Given the description of an element on the screen output the (x, y) to click on. 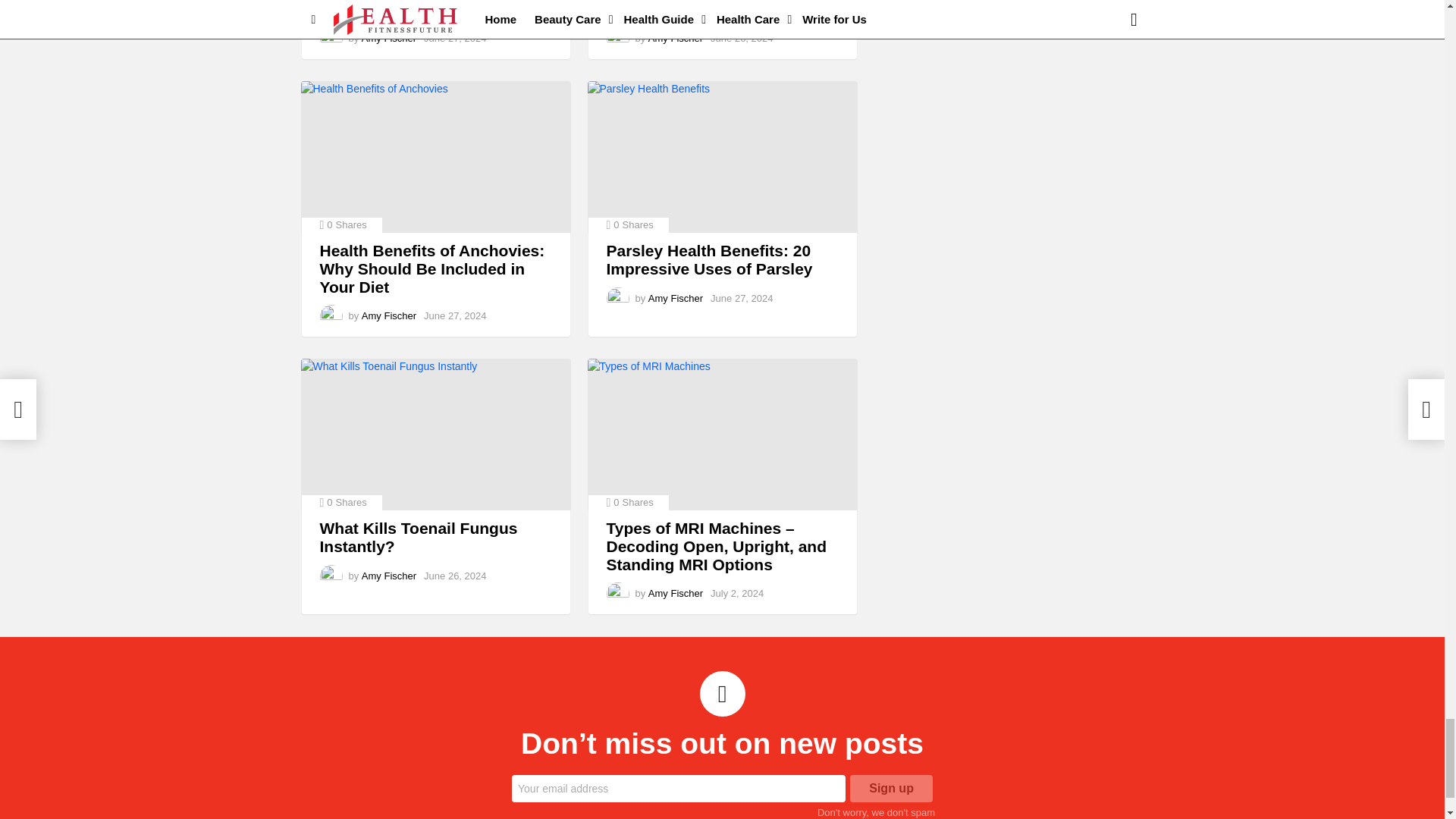
Sign up (891, 788)
